Given the description of an element on the screen output the (x, y) to click on. 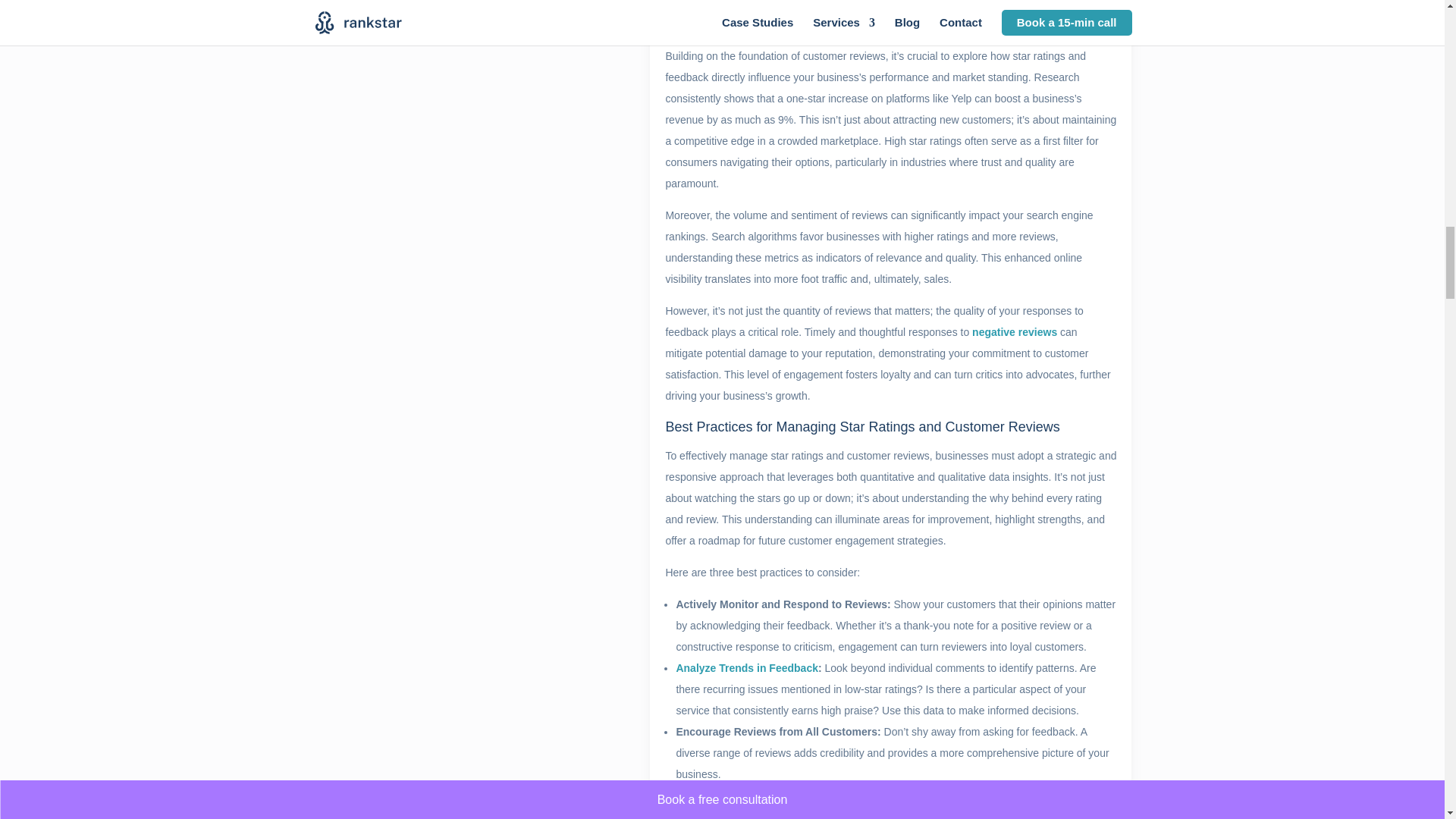
Analyze Trends in Feedback (746, 667)
negative reviews (1014, 331)
